Given the description of an element on the screen output the (x, y) to click on. 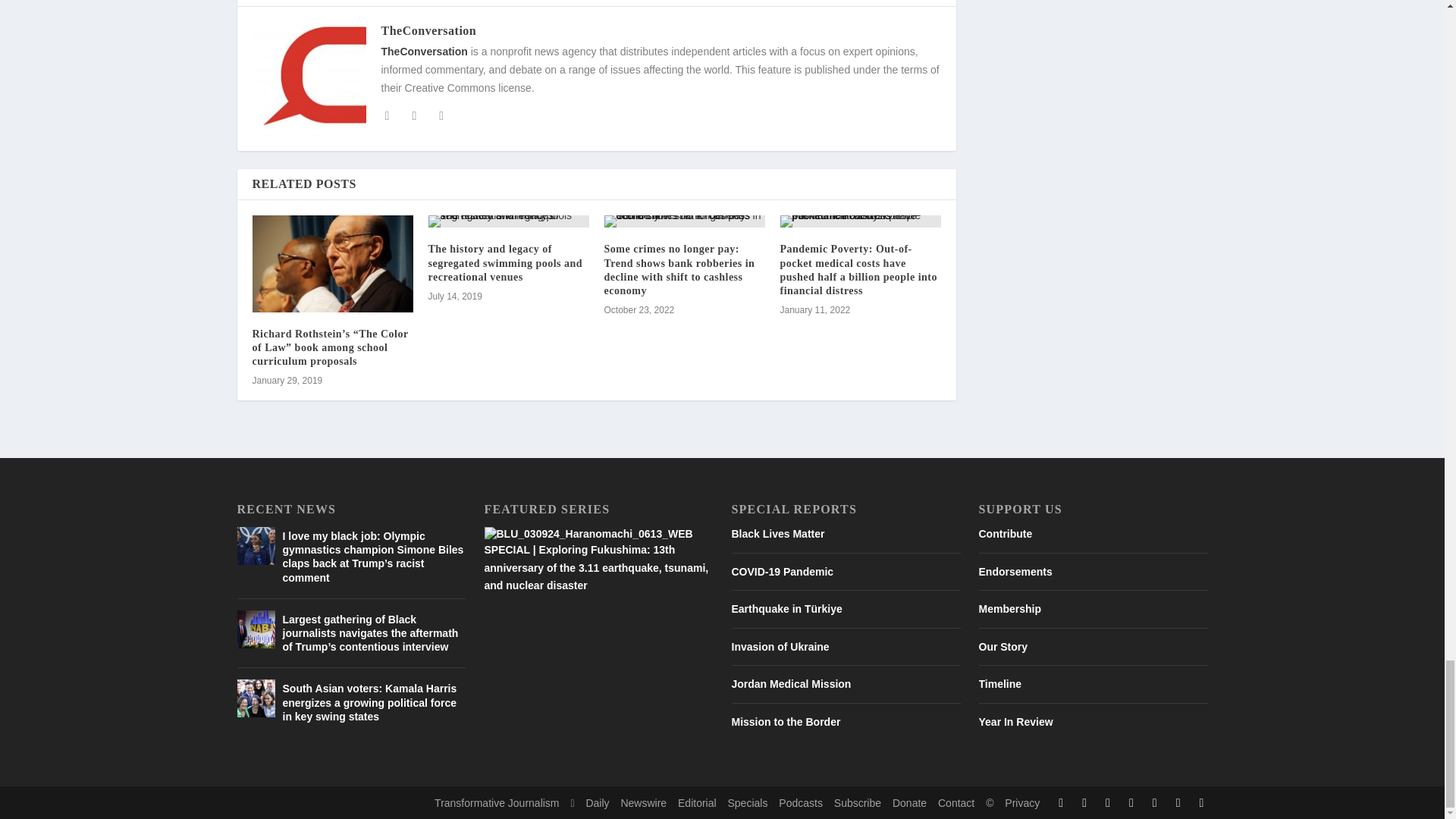
View all posts by TheConversation (428, 30)
